Given the description of an element on the screen output the (x, y) to click on. 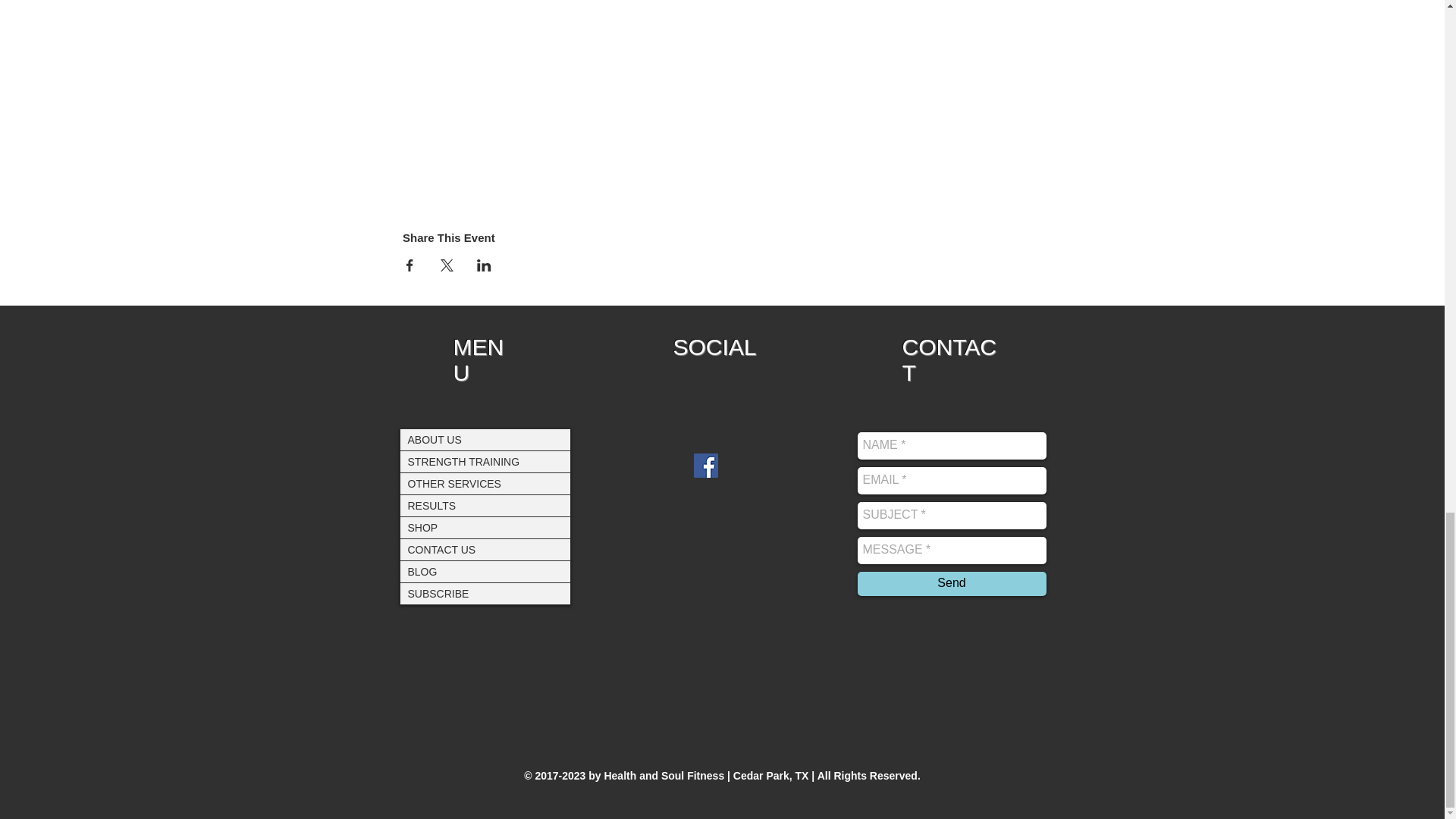
STRENGTH TRAINING (485, 460)
RESULTS (485, 504)
SHOP (485, 527)
ABOUT US (485, 439)
BLOG (485, 571)
CONTACT US (485, 548)
SUBSCRIBE (485, 592)
